Given the description of an element on the screen output the (x, y) to click on. 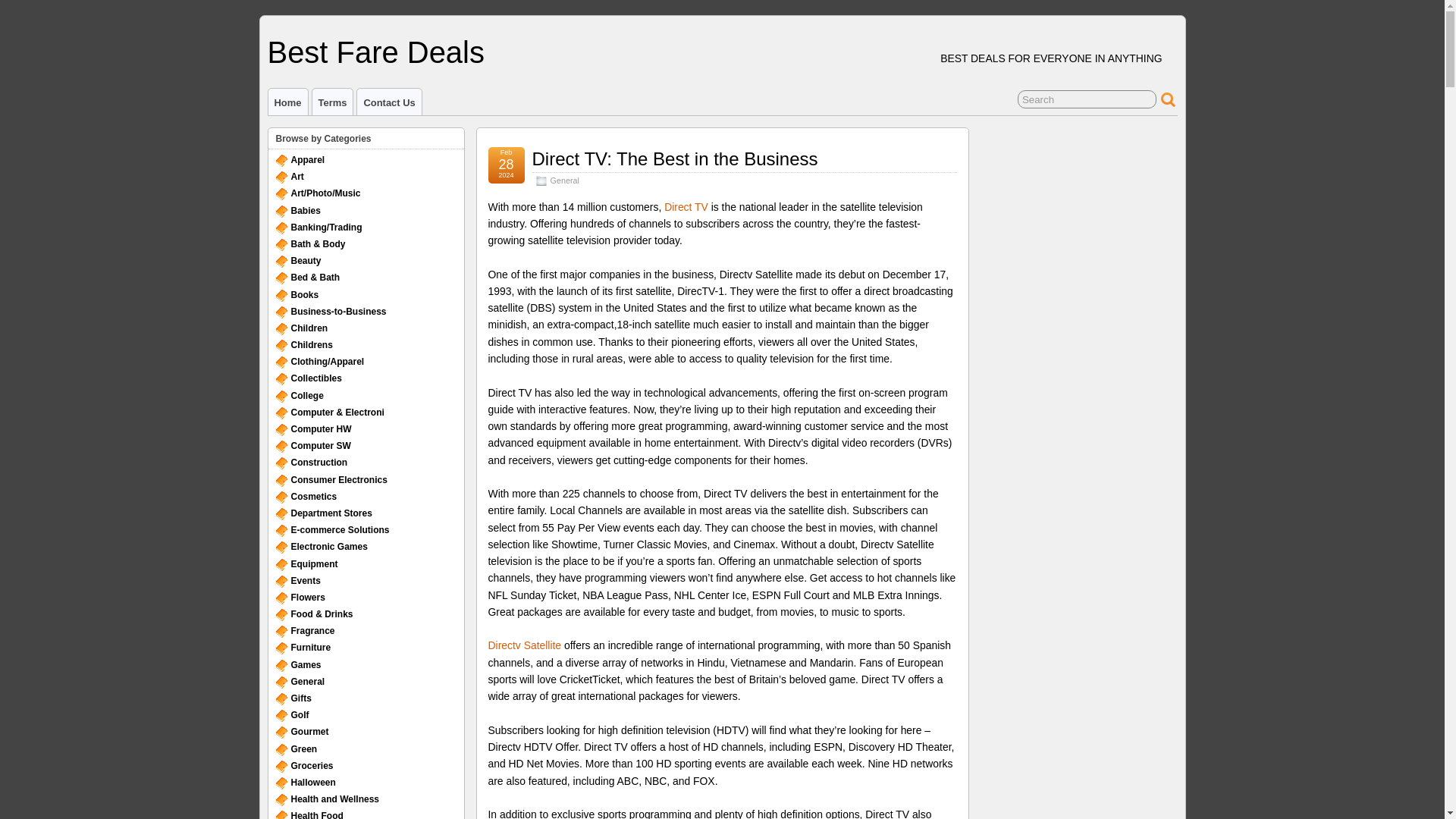
Consumer Electronics (339, 480)
Construction (319, 462)
Direct TV: The Best in the Business (675, 158)
Computer HW (321, 429)
Terms (333, 101)
Direct TV: The Best in the Business (675, 158)
Babies (305, 210)
Books (304, 294)
Search (1086, 99)
Computer SW (320, 445)
